Given the description of an element on the screen output the (x, y) to click on. 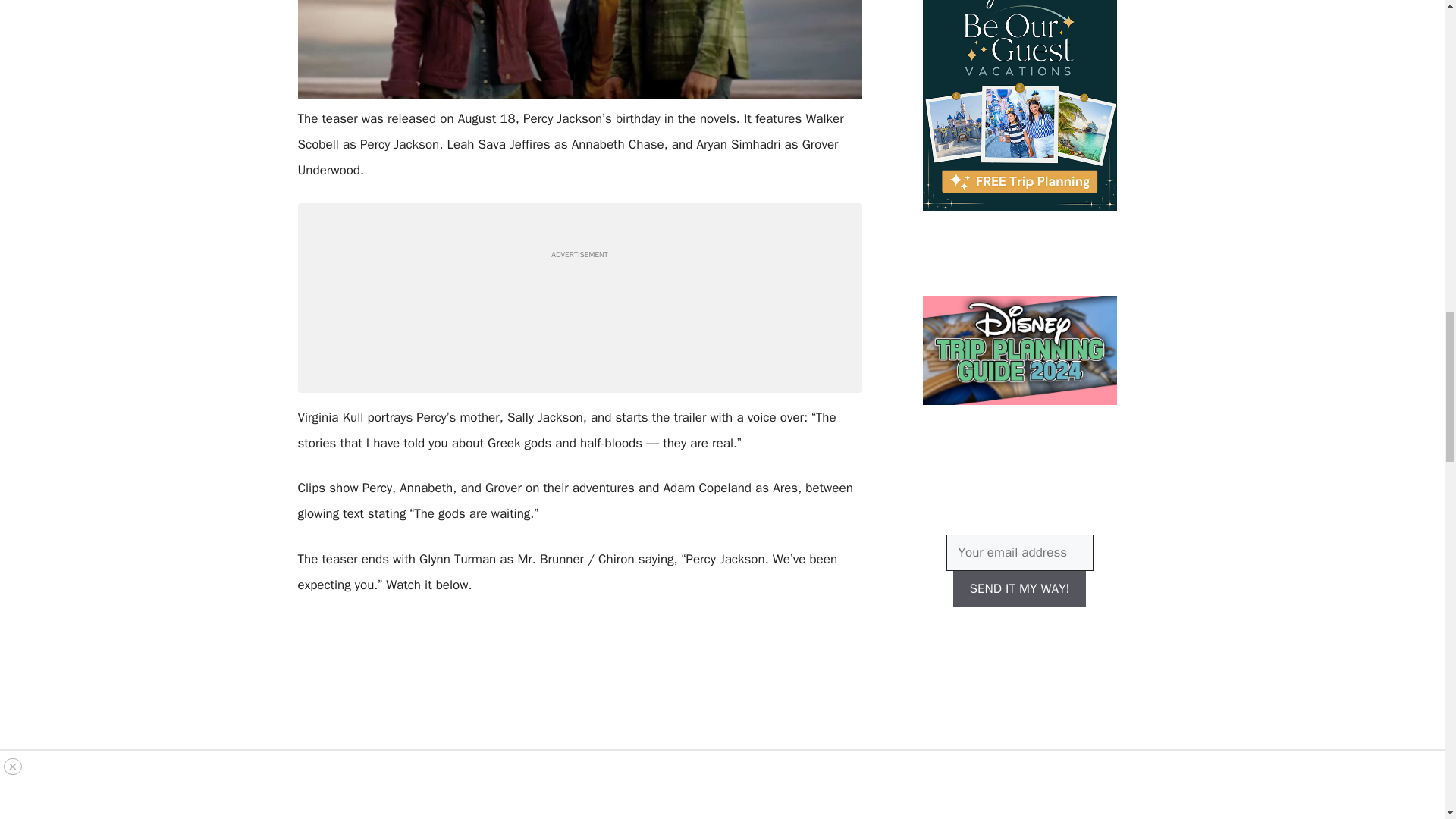
SEND IT MY WAY! (1018, 588)
YouTube player (579, 718)
